Given the description of an element on the screen output the (x, y) to click on. 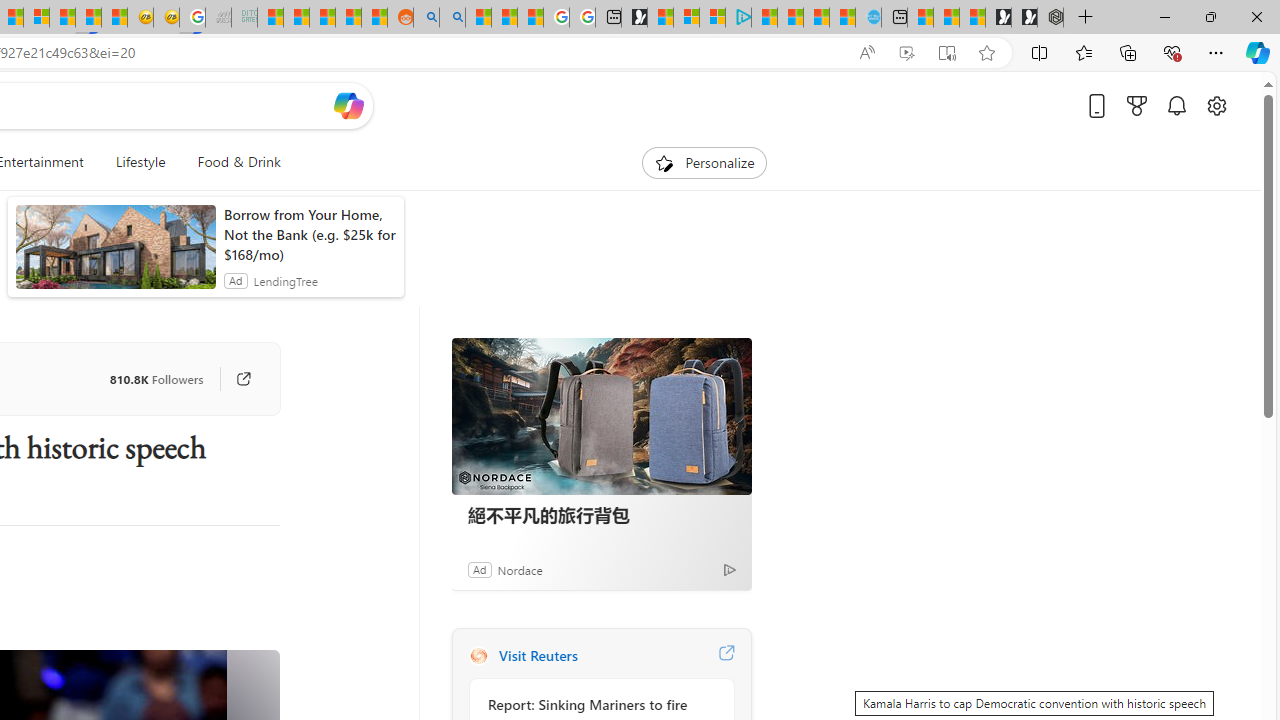
Reuters (478, 655)
Go to publisher's site (233, 378)
anim-content (115, 255)
Personalize (703, 162)
Enter Immersive Reader (F9) (946, 53)
Home | Sky Blue Bikes - Sky Blue Bikes (868, 17)
